Given the description of an element on the screen output the (x, y) to click on. 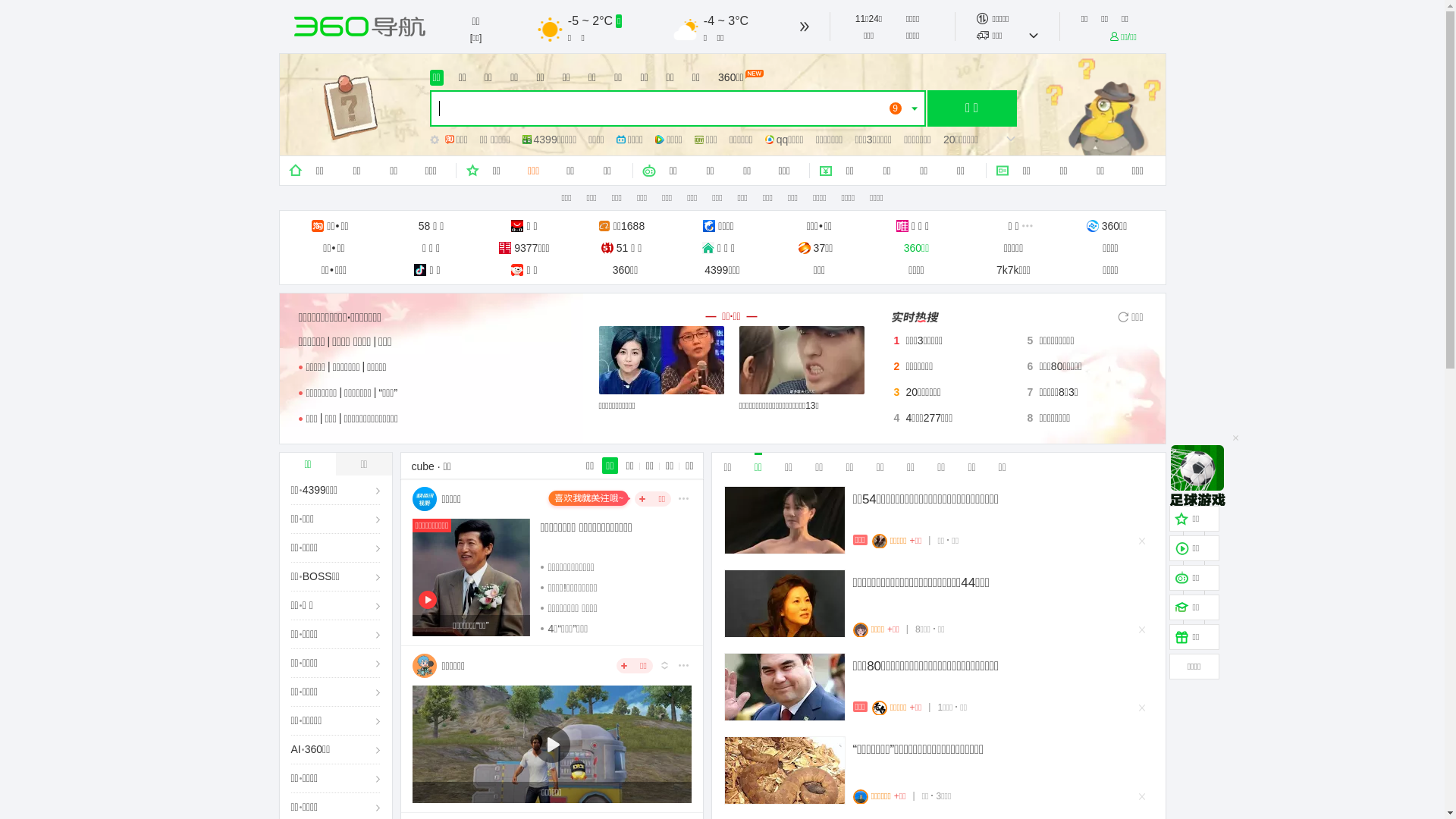
AI Element type: text (296, 749)
